Given the description of an element on the screen output the (x, y) to click on. 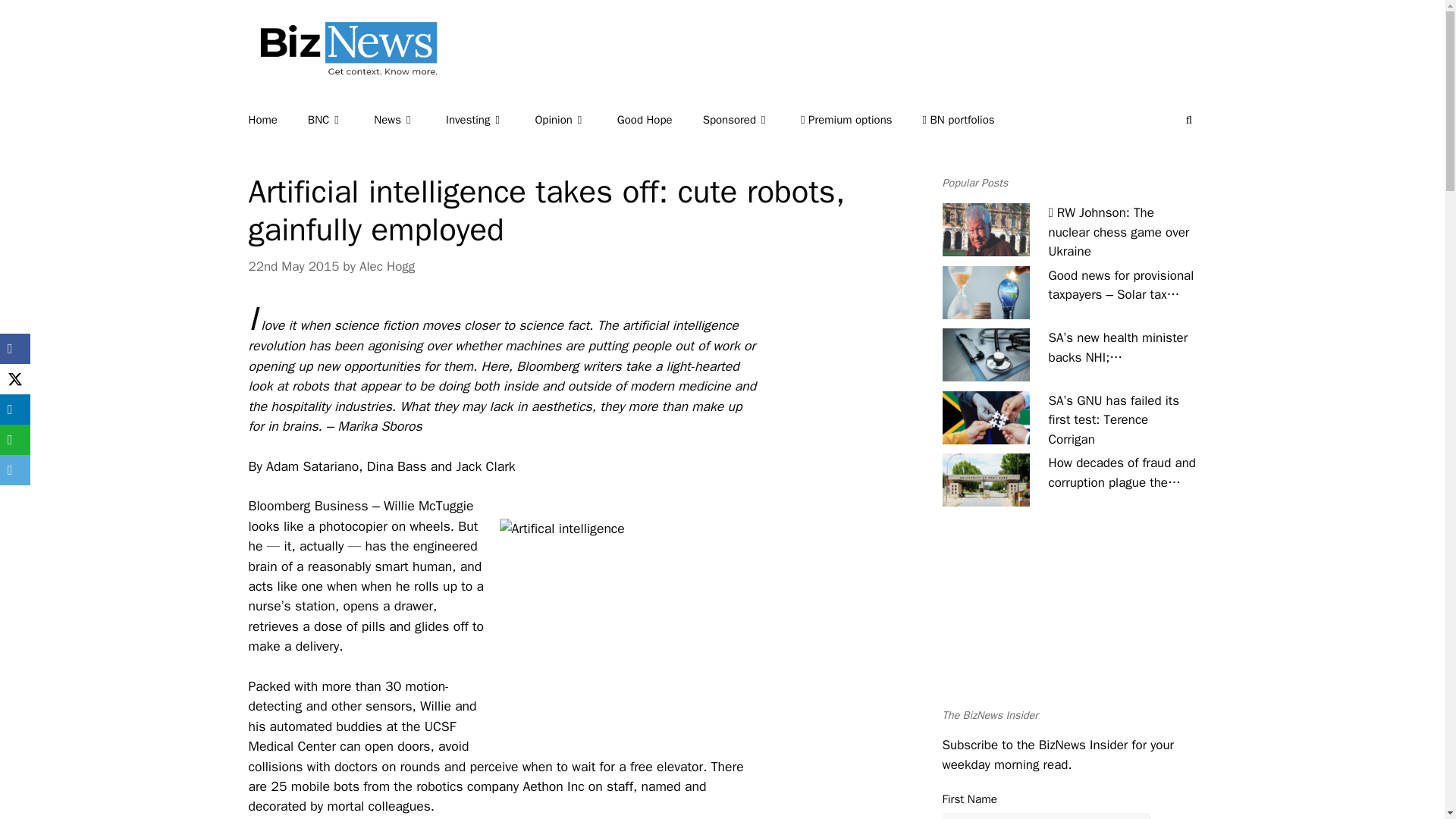
Spotify Embed: BizNews Radio (1068, 619)
View all posts by Alec Hogg (386, 266)
BizNews (343, 69)
SA's GNU has failed its first test: Terence Corrigan (985, 417)
News (409, 119)
Home (277, 119)
Investing (489, 119)
Opinion (574, 119)
Alec Hogg (386, 266)
Good Hope (660, 119)
Sponsored (751, 119)
BNC (340, 119)
